Given the description of an element on the screen output the (x, y) to click on. 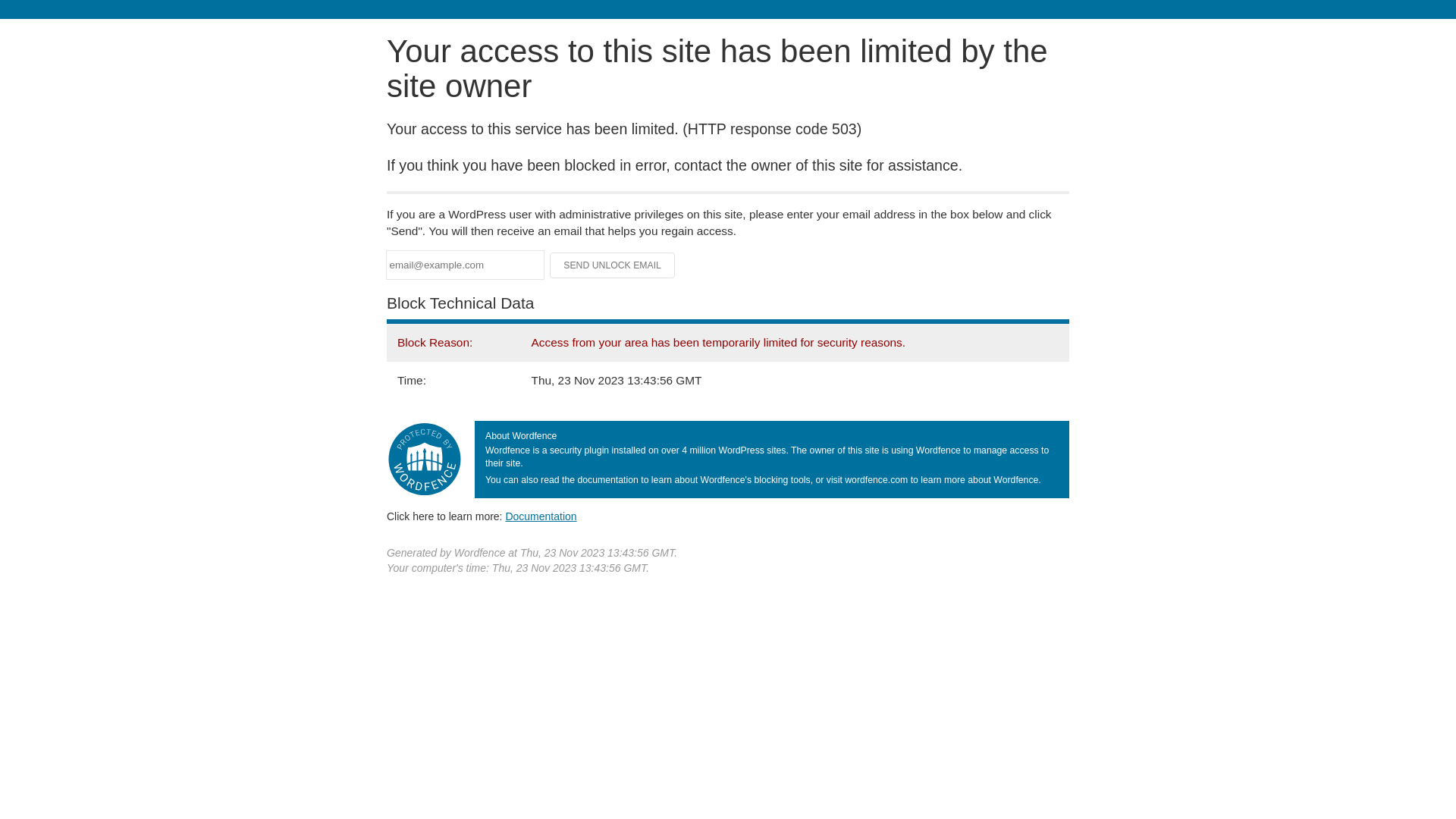
Send Unlock Email Element type: text (612, 265)
Documentation Element type: text (540, 516)
